Given the description of an element on the screen output the (x, y) to click on. 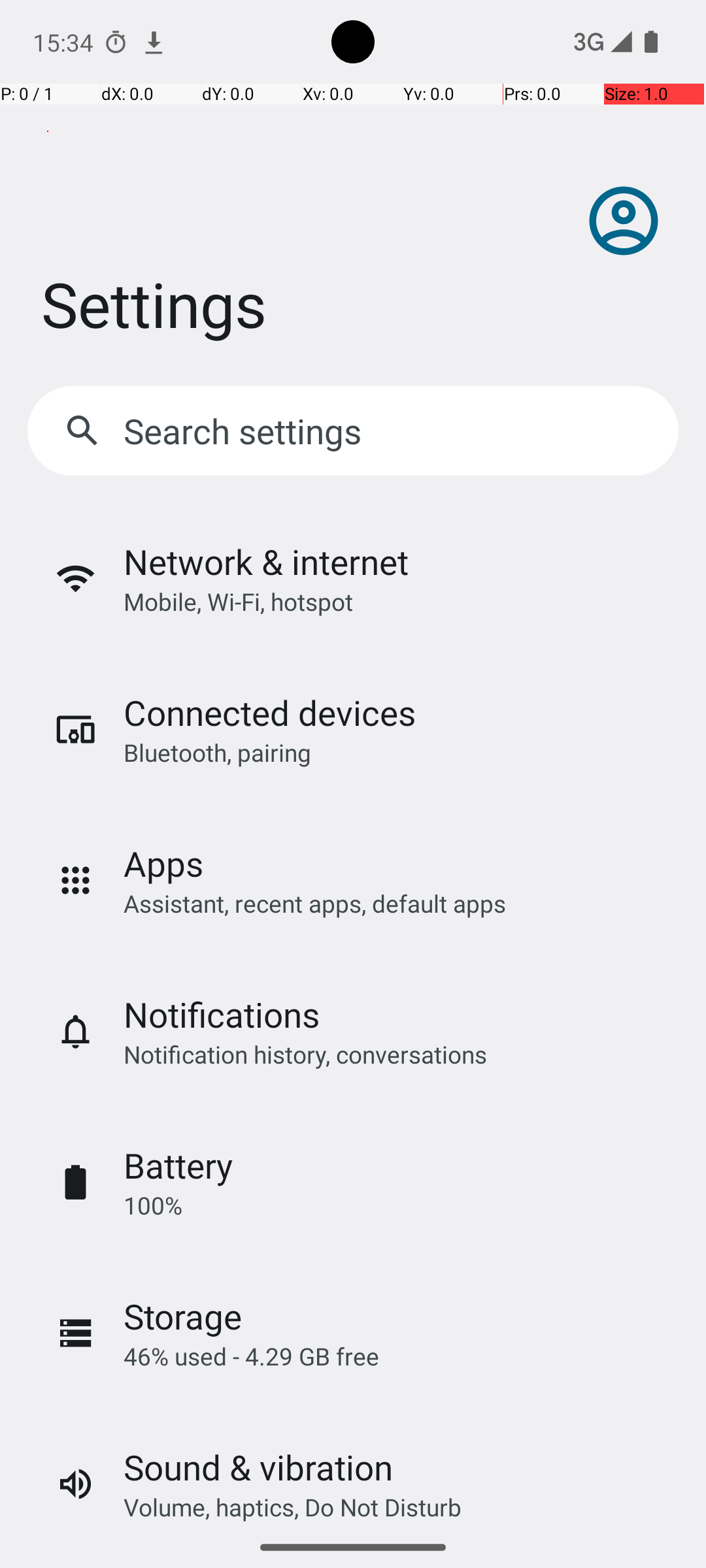
46% used - 4.29 GB free Element type: android.widget.TextView (251, 1355)
